Given the description of an element on the screen output the (x, y) to click on. 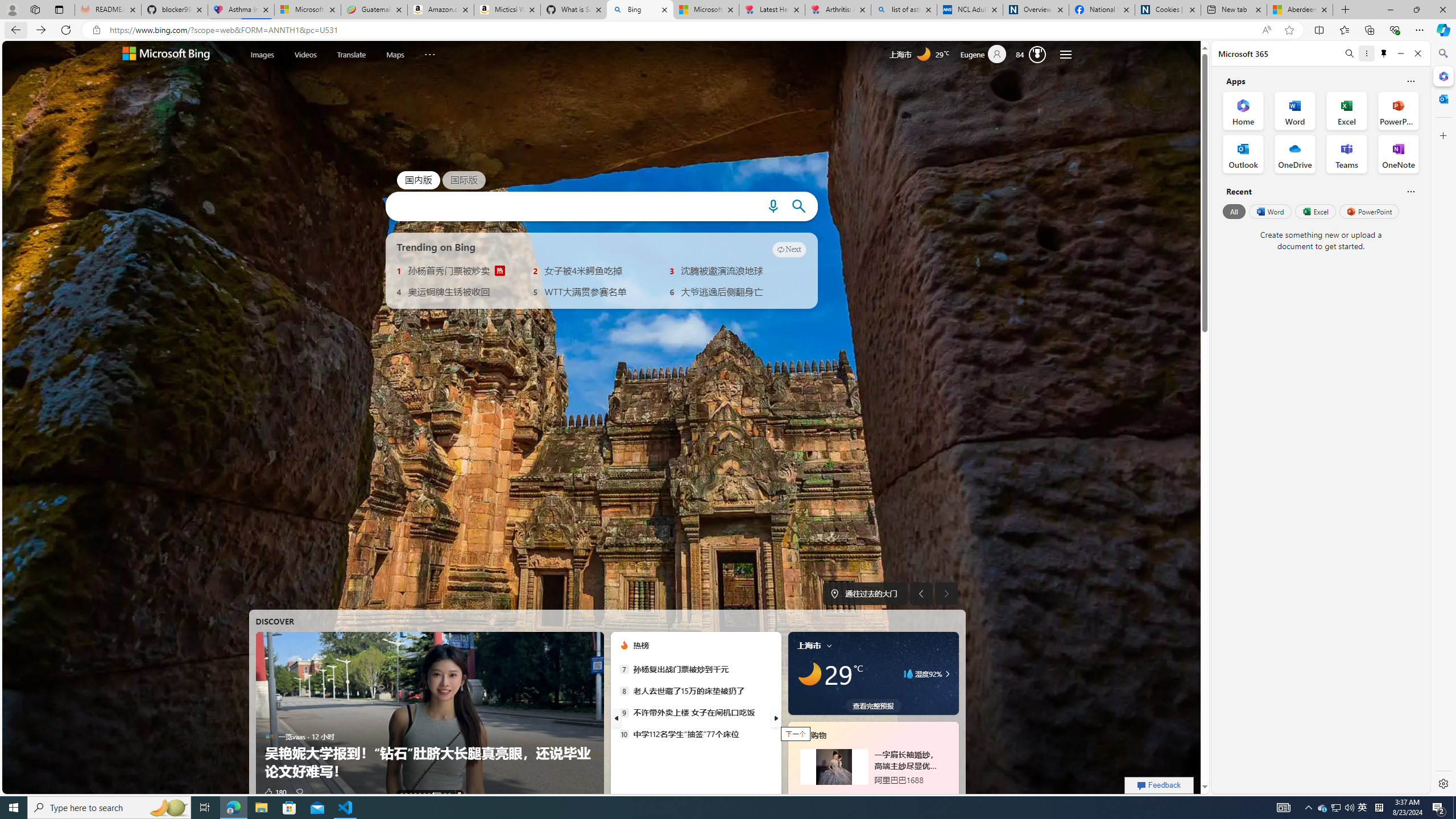
Bing (640, 9)
Images (261, 54)
Welcome to Bing Search (165, 54)
Home Office App (1243, 110)
Class: icon-img (828, 645)
